Given the description of an element on the screen output the (x, y) to click on. 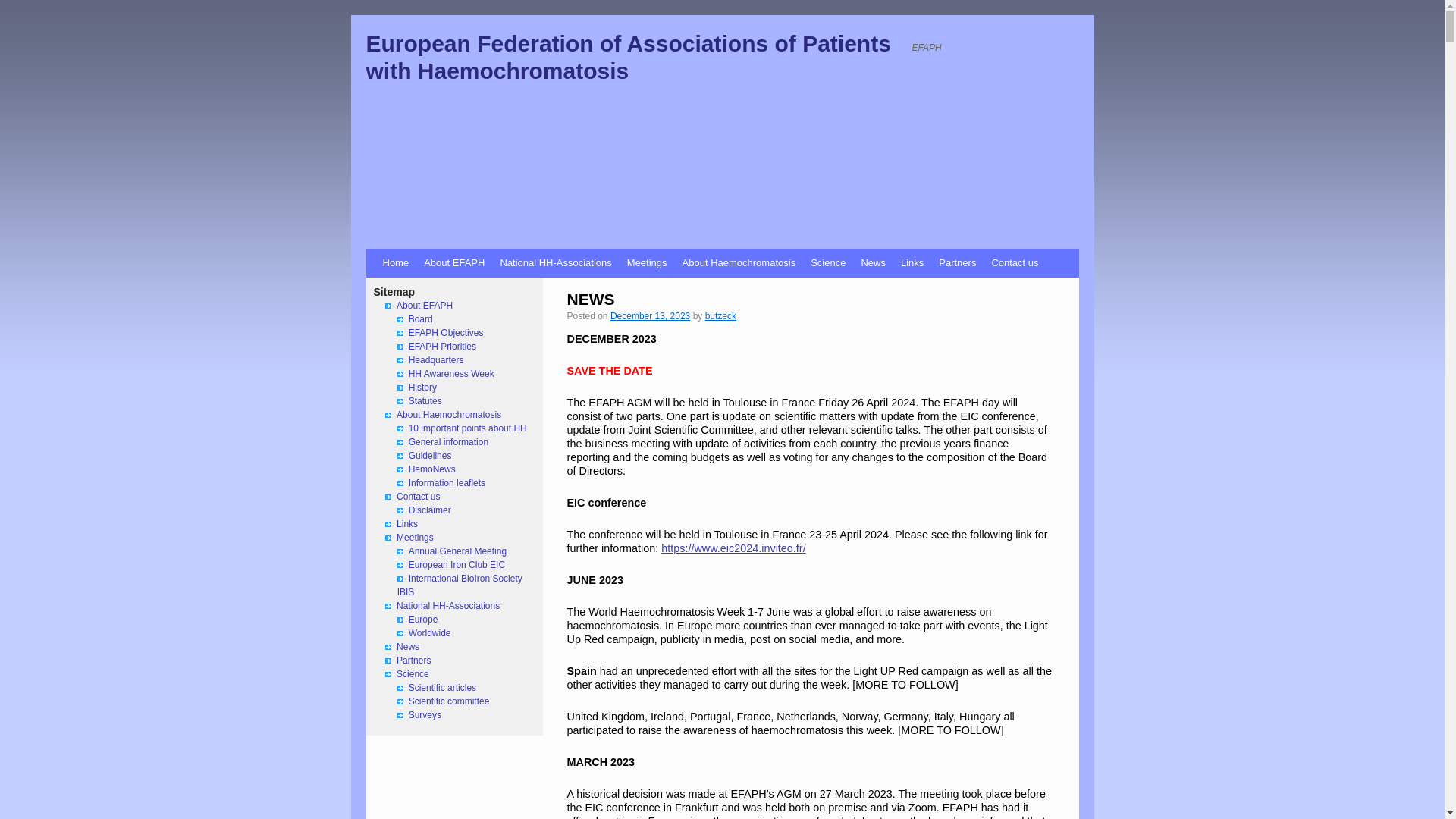
6:55 pm (650, 316)
Permalink to NEWS (590, 298)
About Haemochromatosis (739, 262)
Contact us (1014, 262)
December 13, 2023 (650, 316)
News (873, 262)
butzeck (720, 316)
Meetings (647, 262)
Home (395, 262)
National HH-Associations (555, 262)
About EFAPH (454, 262)
Links (912, 262)
Partners (957, 262)
NEWS (590, 298)
